Given the description of an element on the screen output the (x, y) to click on. 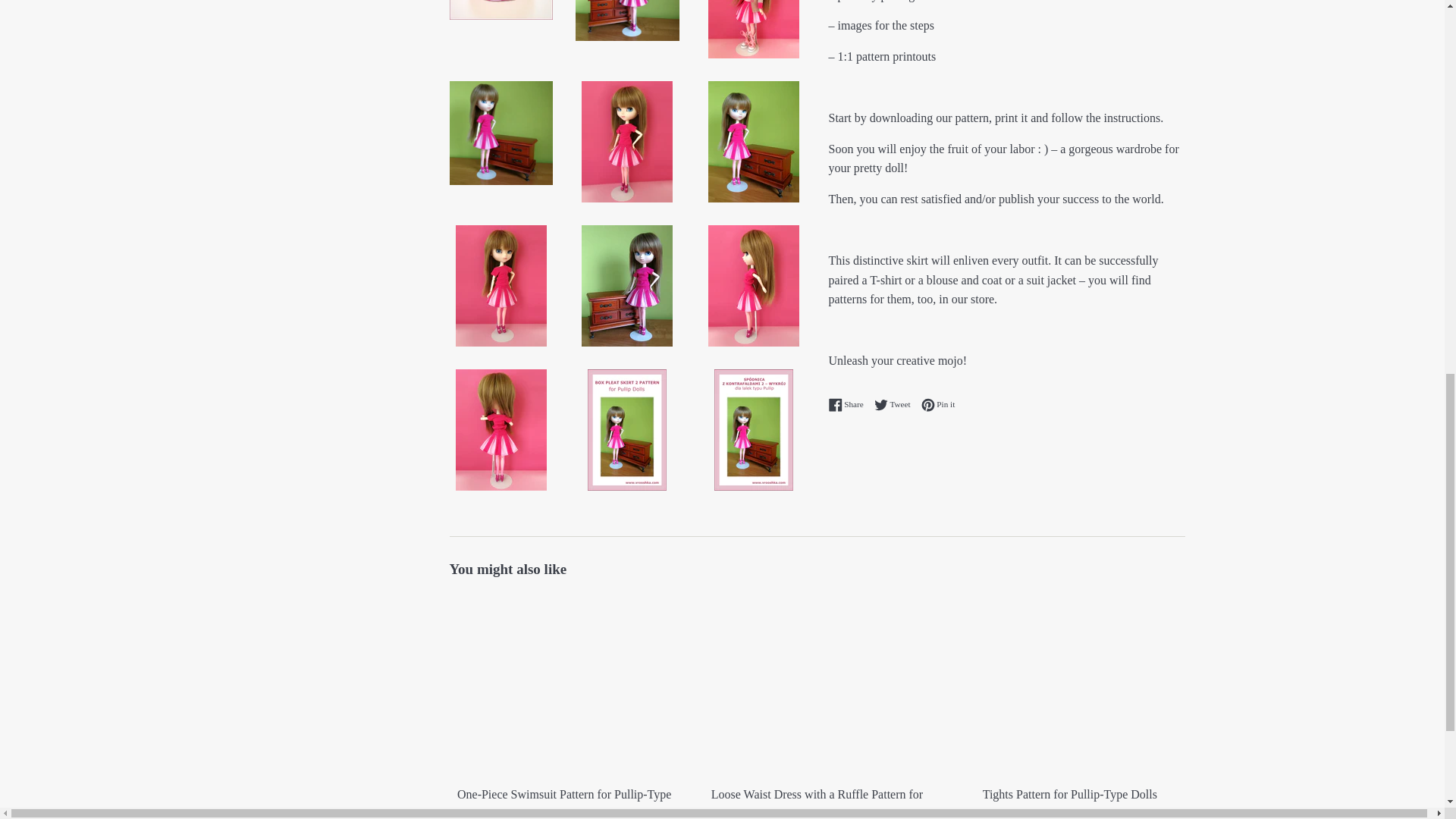
Pin on Pinterest (938, 404)
Share on Facebook (849, 404)
Tights Pattern for Pullip-Type Dolls (1070, 684)
Tweet on Twitter (896, 404)
One-Piece Swimsuit Pattern for Pullip-Type Dolls (563, 684)
